Given the description of an element on the screen output the (x, y) to click on. 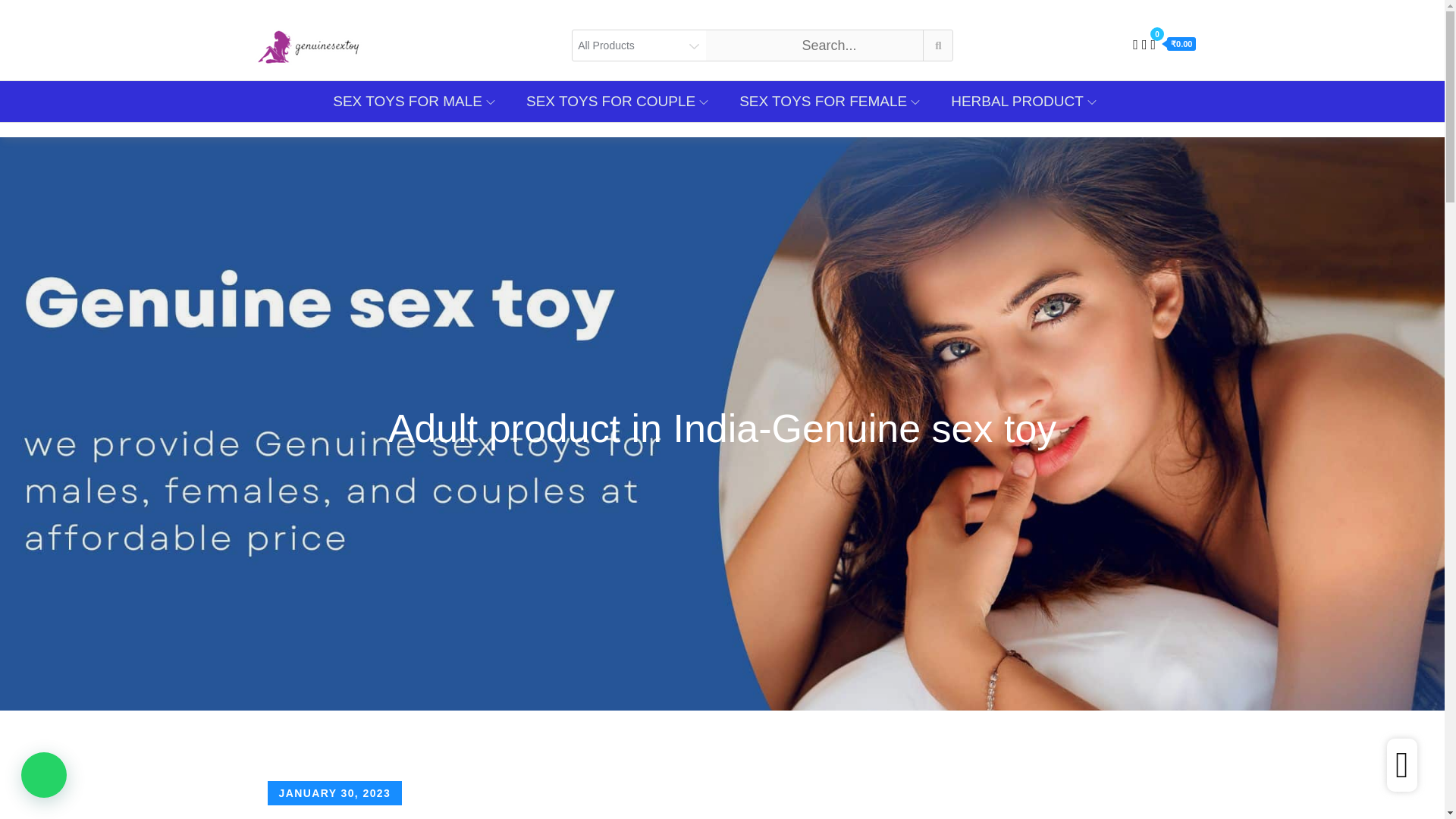
SEX TOYS FOR MALE (413, 101)
SEX TOYS FOR COUPLE (616, 101)
Cart (1172, 43)
HERBAL PRODUCT (1023, 101)
SEX TOYS FOR FEMALE (829, 101)
